Given the description of an element on the screen output the (x, y) to click on. 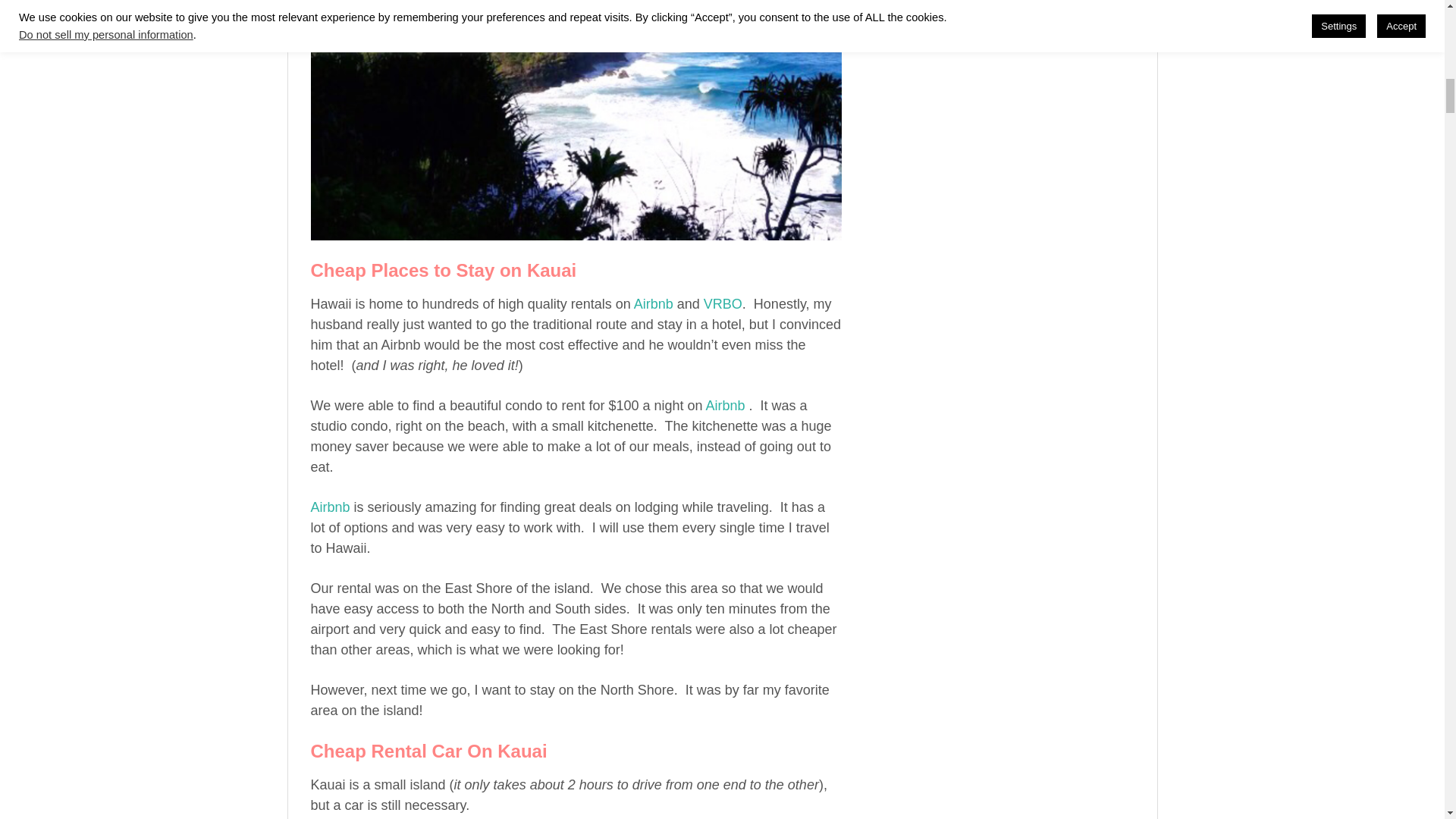
Airbnb (652, 304)
Airbnb (332, 507)
Airbnb (727, 405)
VRBO (722, 304)
